Given the description of an element on the screen output the (x, y) to click on. 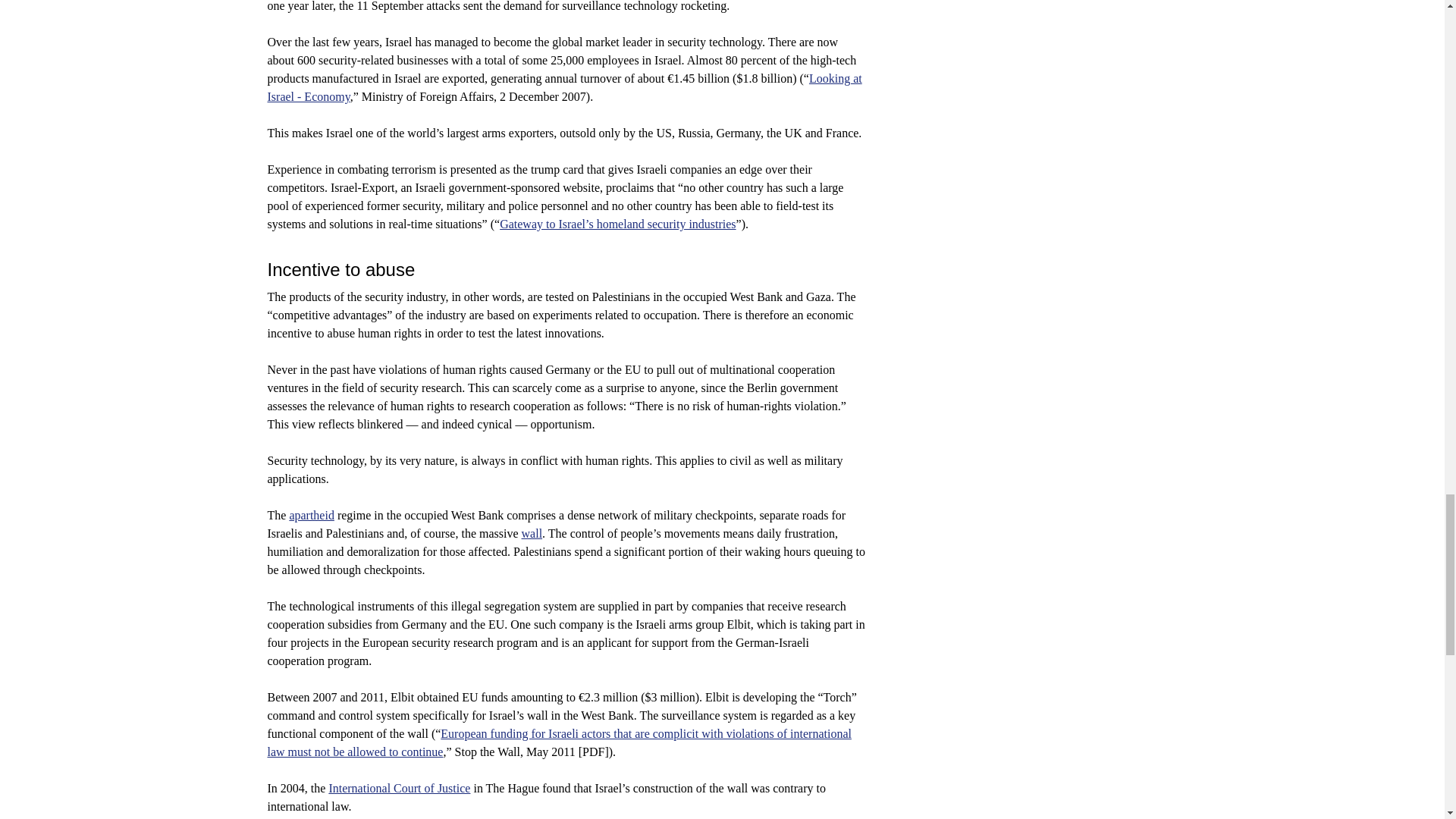
International Court of Justice (399, 788)
wall (532, 533)
Looking at Israel - Economy (563, 87)
apartheid (311, 514)
